Given the description of an element on the screen output the (x, y) to click on. 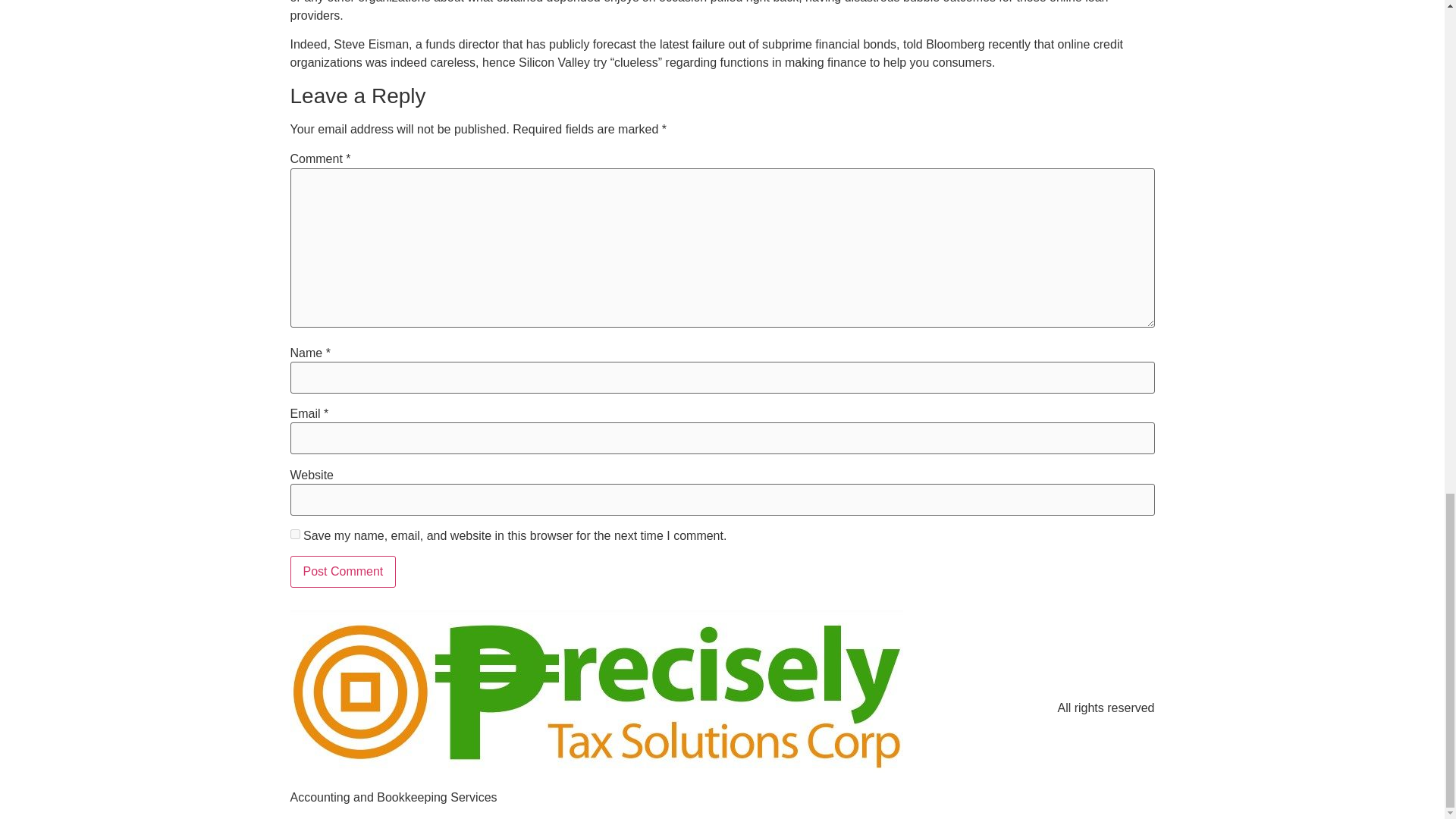
Post Comment (342, 572)
Post Comment (342, 572)
yes (294, 533)
